Given the description of an element on the screen output the (x, y) to click on. 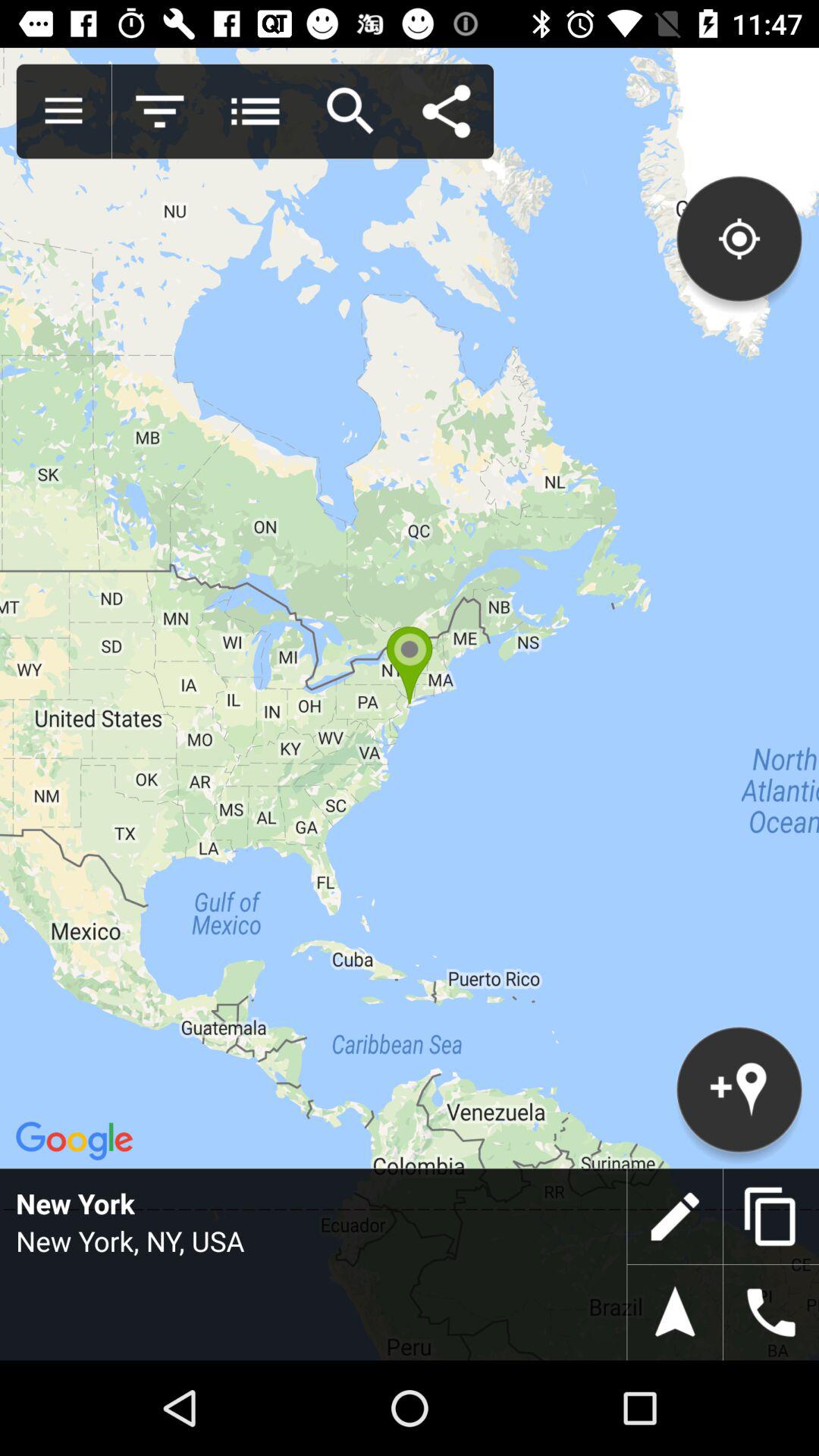
open edit menu (674, 1216)
